Given the description of an element on the screen output the (x, y) to click on. 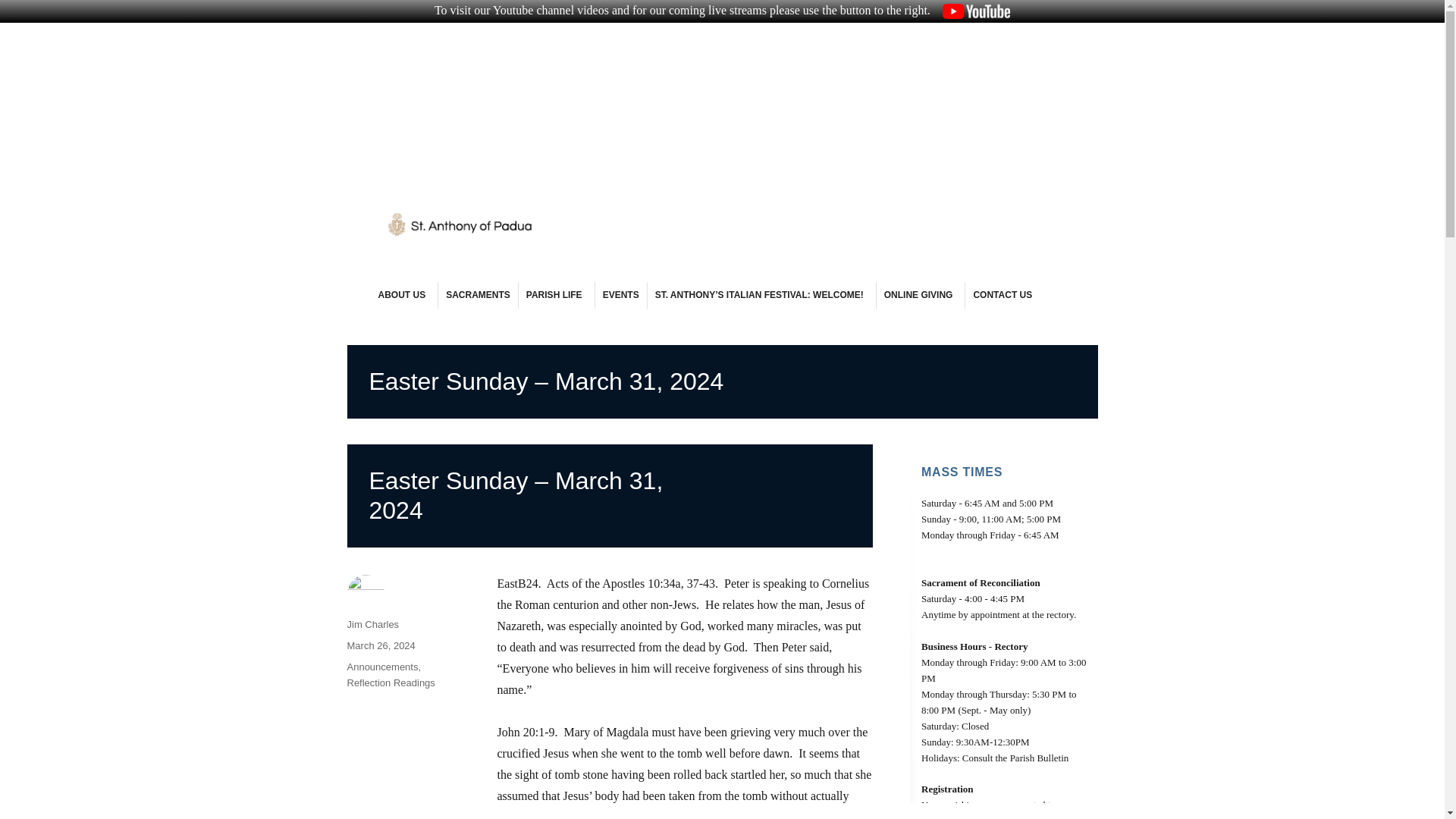
Welcome to St. Anthony of Padua Roman Catholic Church (673, 263)
EVENTS (620, 294)
ABOUT US (403, 294)
PARISH LIFE (556, 294)
SACRAMENTS (478, 294)
